Given the description of an element on the screen output the (x, y) to click on. 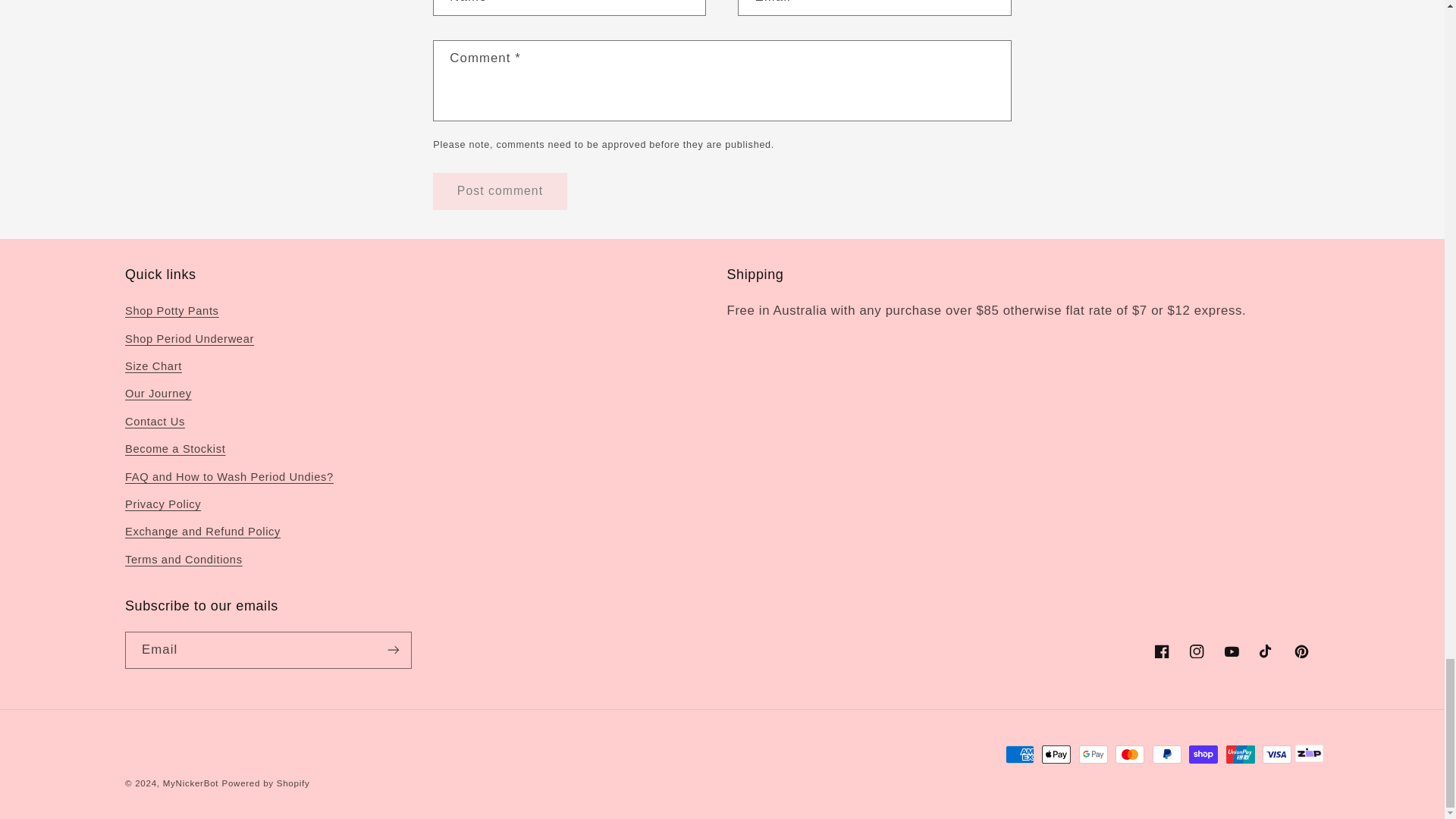
Post comment (499, 190)
Shop Potty Pants (172, 313)
Post comment (499, 190)
